Given the description of an element on the screen output the (x, y) to click on. 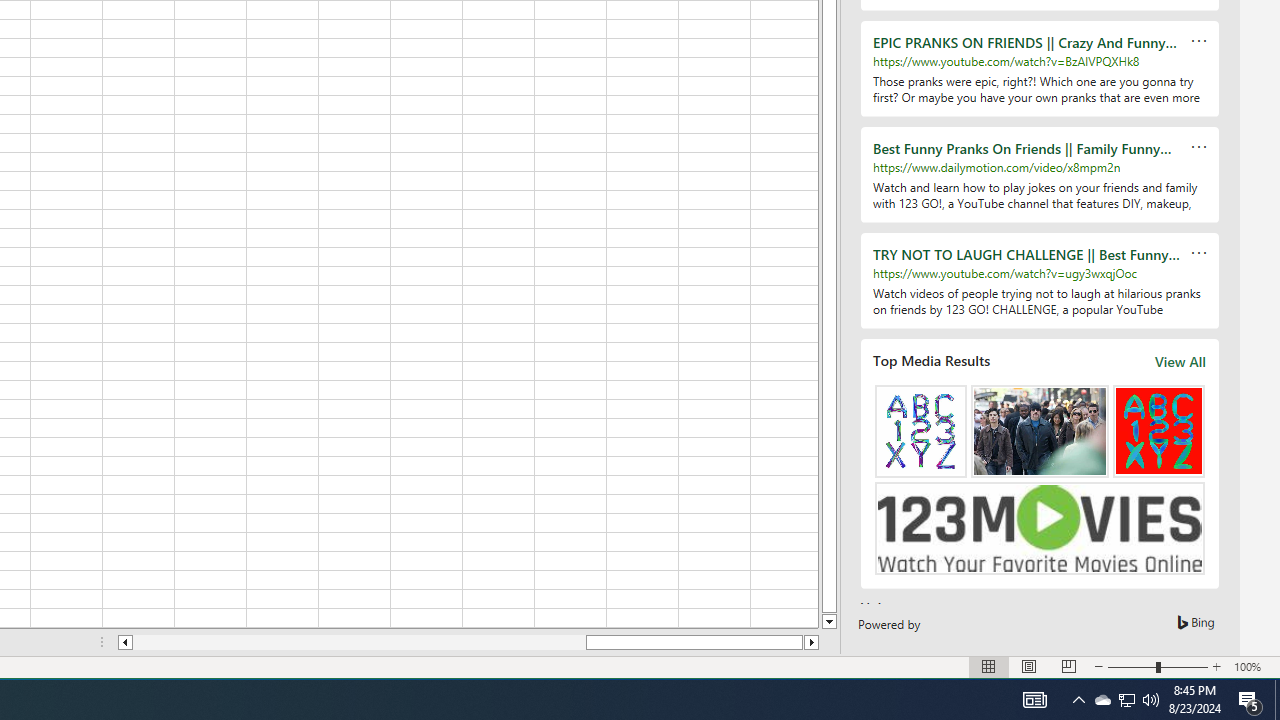
Column left (124, 642)
Zoom In (1217, 667)
Notification Chevron (1078, 699)
Page Break Preview (1069, 667)
Zoom (1158, 667)
User Promoted Notification Area (1126, 699)
Line down (829, 622)
Column right (811, 642)
AutomationID: 4105 (1034, 699)
Action Center, 5 new notifications (1250, 699)
Show desktop (1277, 699)
Zoom Out (1131, 667)
Page left (1102, 699)
